Given the description of an element on the screen output the (x, y) to click on. 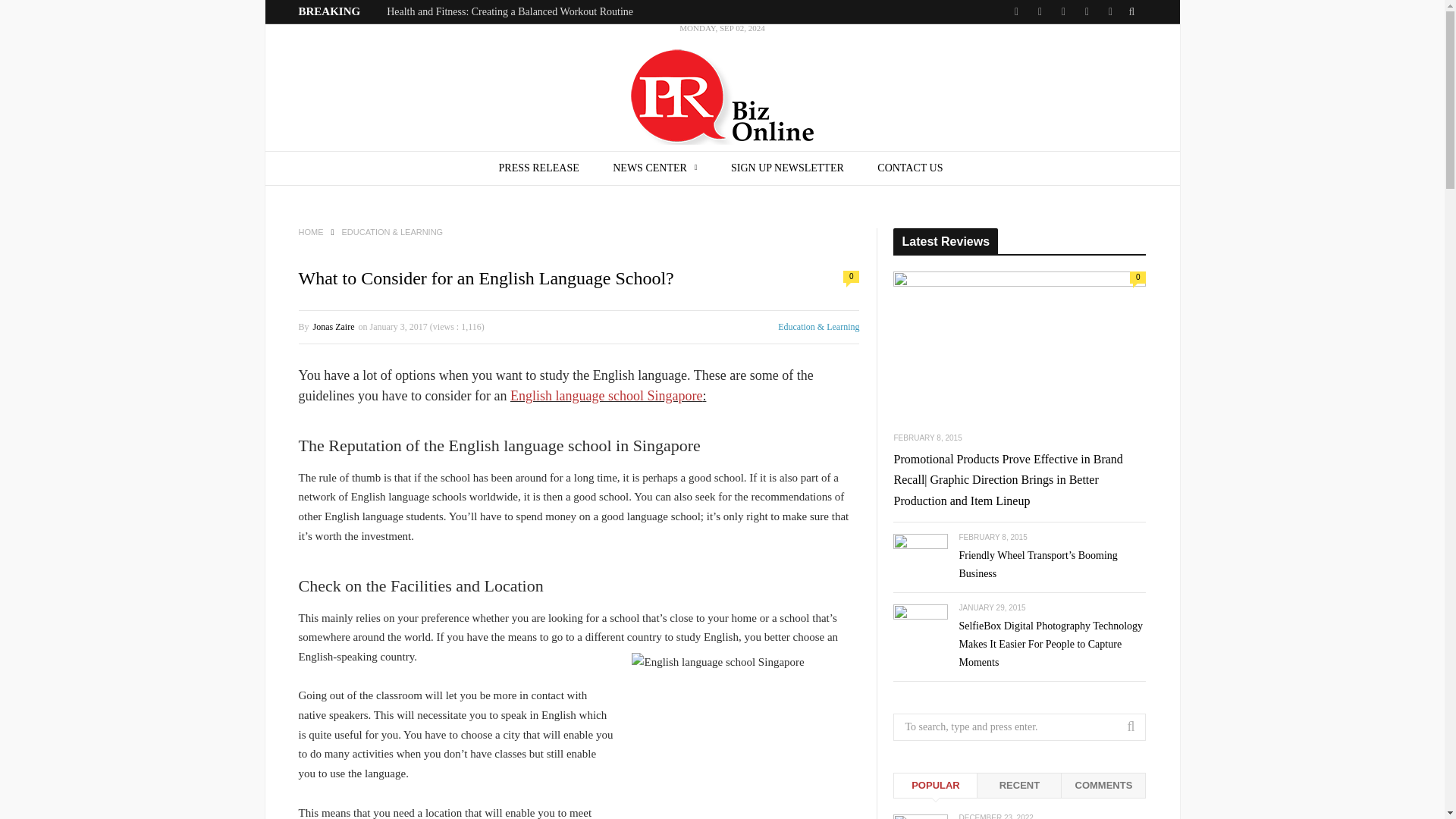
PRESS RELEASE (538, 167)
MONDAY, SEP 02, 2024 (721, 87)
Jonas Zaire (334, 326)
RSS (1109, 11)
Health and Fitness: Creating a Balanced Workout Routine (510, 11)
Health and Fitness: Creating a Balanced Workout Routine (510, 11)
Twitter (1015, 11)
LinkedIn (1062, 11)
HOME (310, 231)
NEWS CENTER (654, 167)
